Given the description of an element on the screen output the (x, y) to click on. 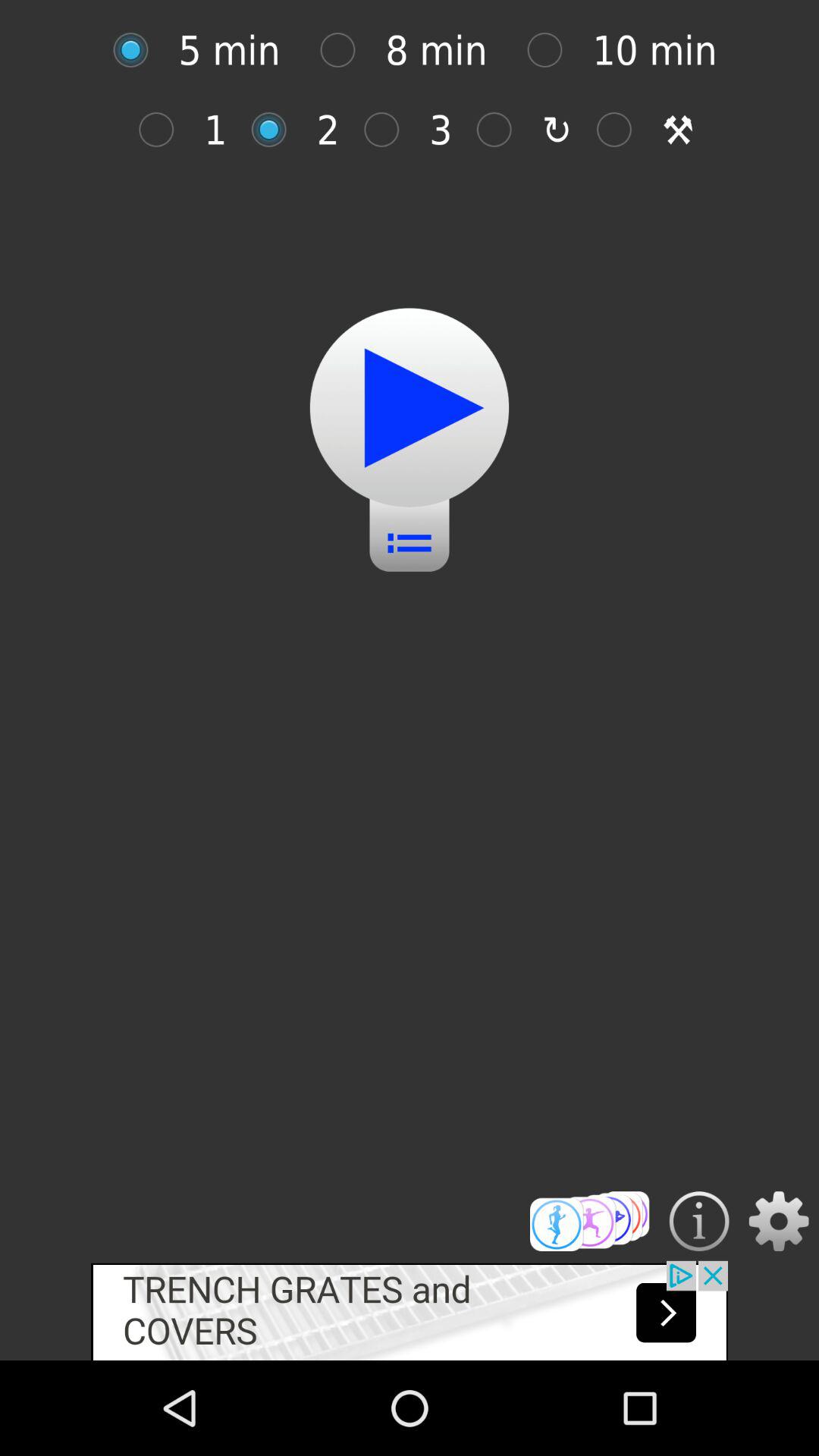
pale (409, 407)
